Given the description of an element on the screen output the (x, y) to click on. 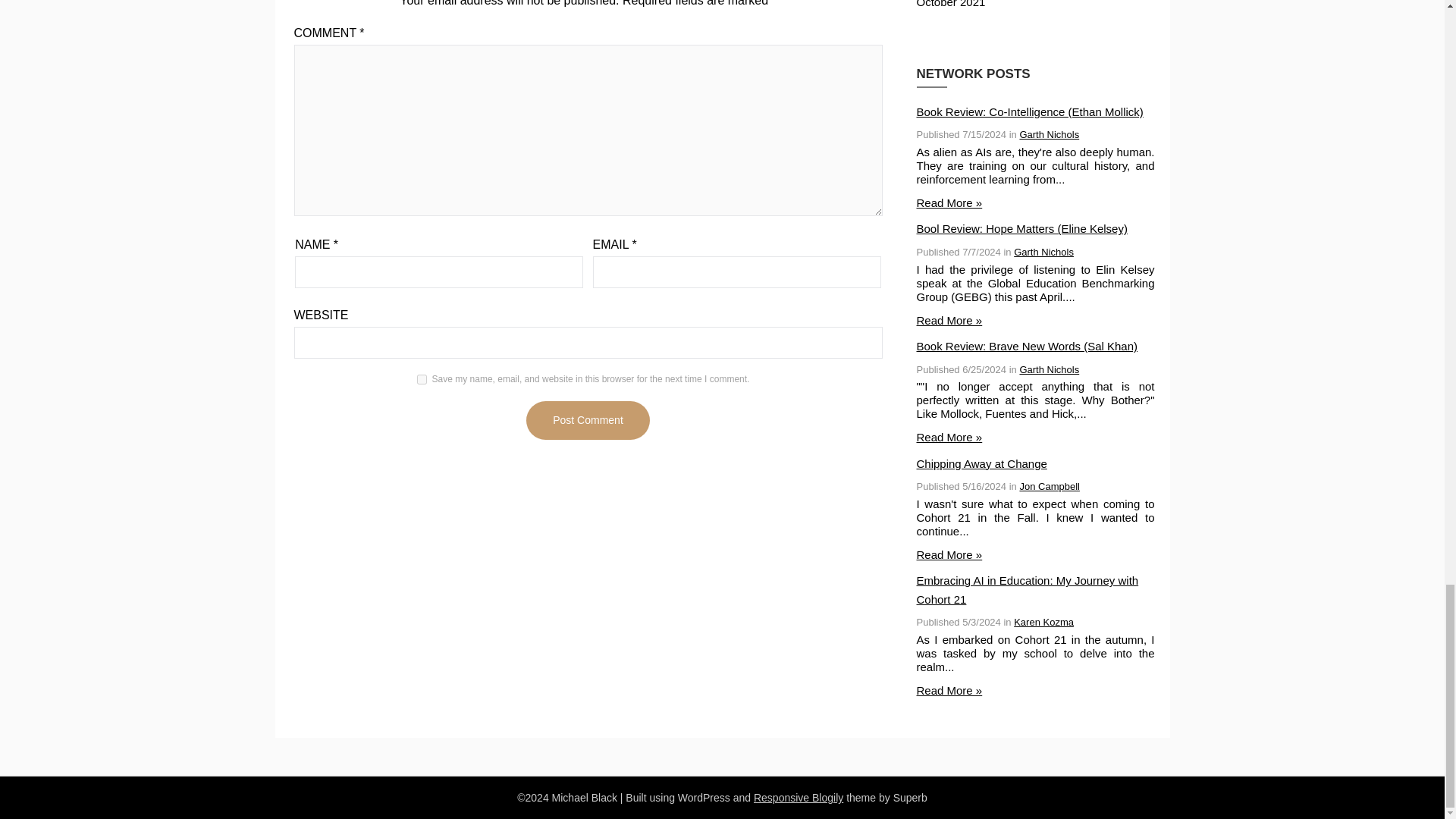
Post Comment (587, 420)
yes (421, 379)
Post Comment (587, 420)
